Given the description of an element on the screen output the (x, y) to click on. 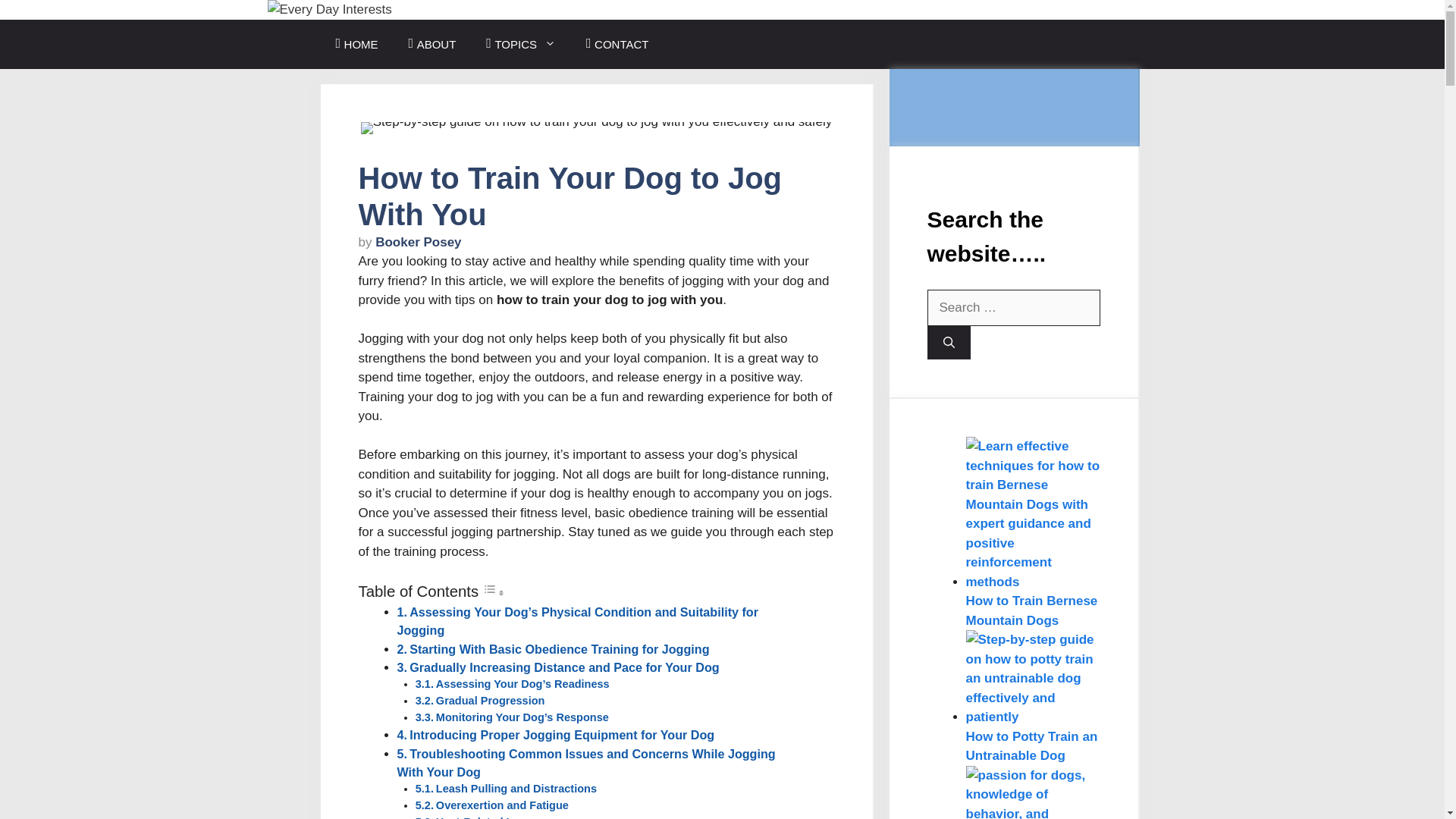
Heat-Related Issues (487, 817)
HOME (356, 43)
Overexertion and Fatigue (502, 805)
Starting With Basic Obedience Training for Jogging (559, 649)
How to Train Your Dog to Jog With You 1 (596, 127)
Gradually Increasing Distance and Pace for Your Dog (564, 667)
View all posts by Booker Posey (418, 242)
Introducing Proper Jogging Equipment for Your Dog (561, 735)
ABOUT (432, 43)
